Given the description of an element on the screen output the (x, y) to click on. 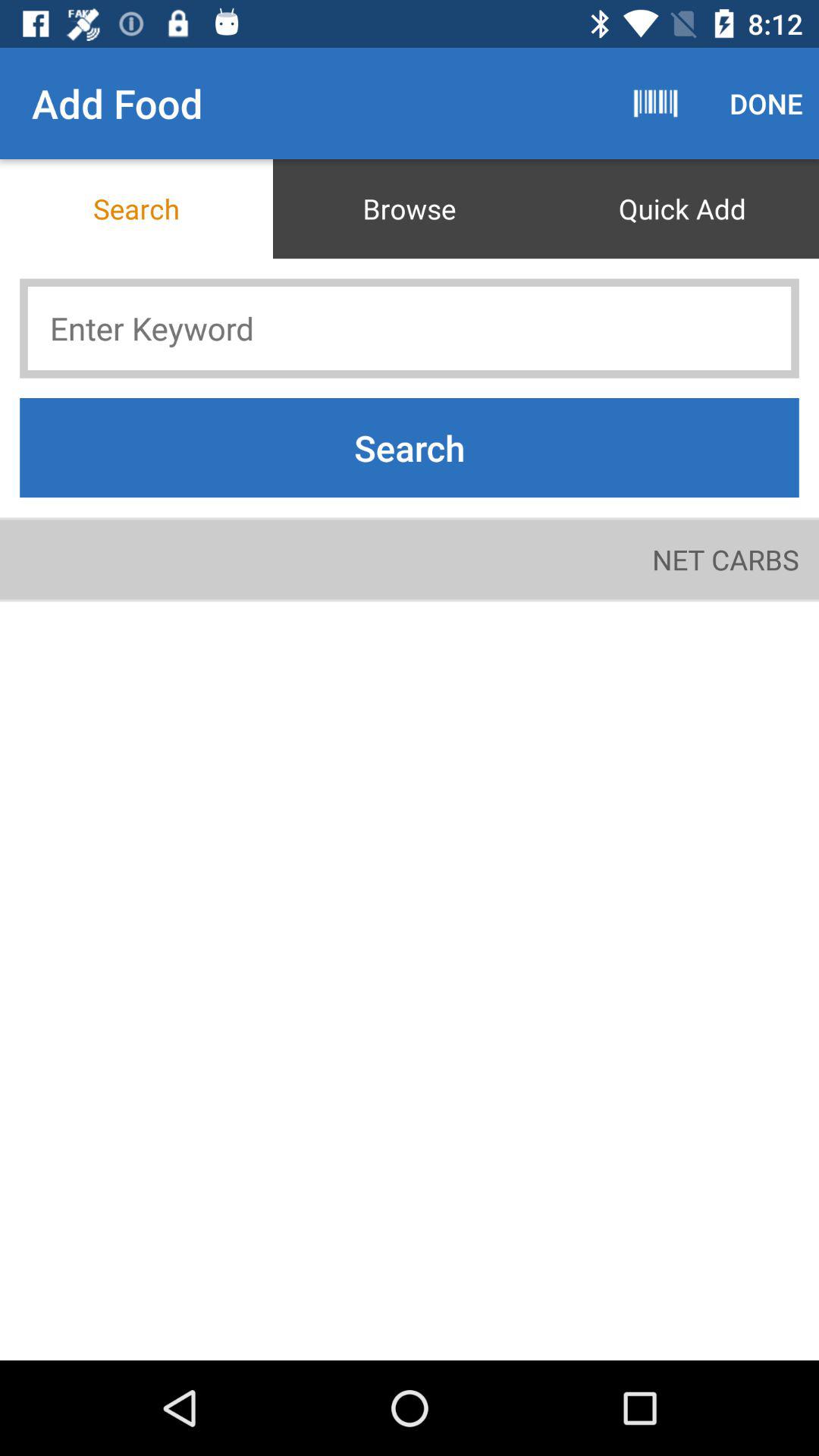
enter keyword to search (409, 328)
